Given the description of an element on the screen output the (x, y) to click on. 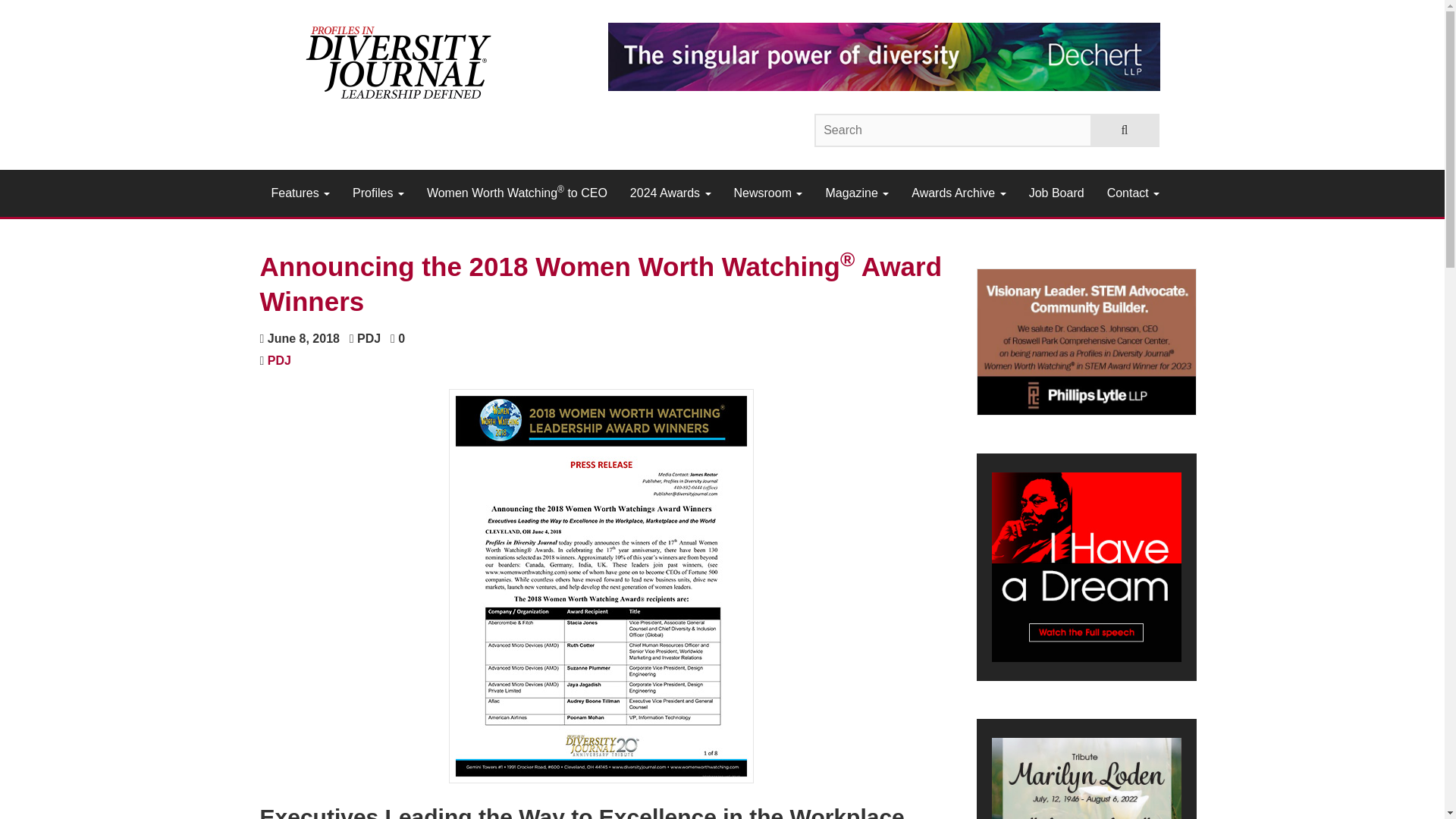
Profiles (377, 193)
Profiles (377, 193)
Features (299, 193)
2024 Awards (670, 193)
Features (299, 193)
Newsroom (767, 193)
